Given the description of an element on the screen output the (x, y) to click on. 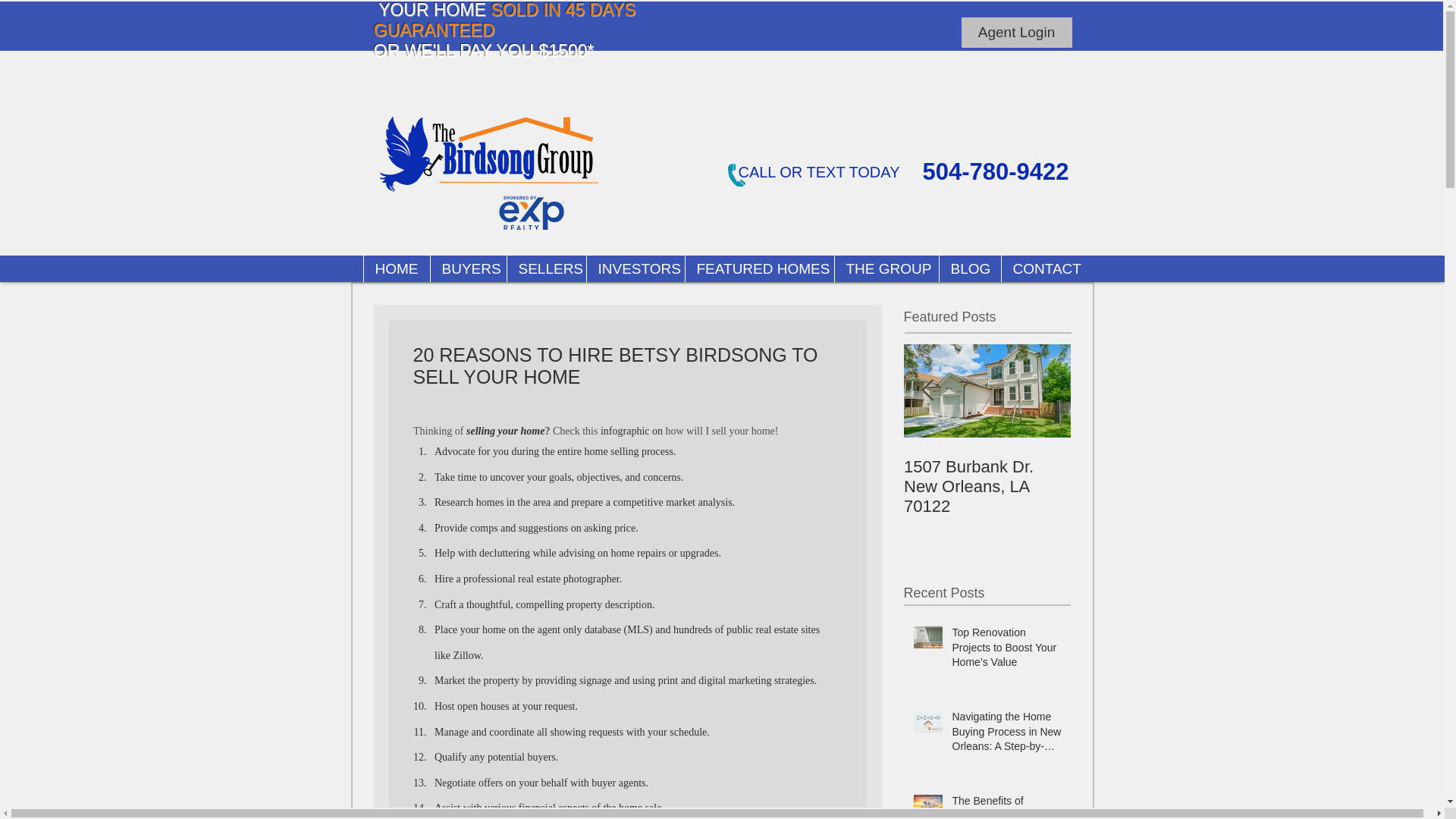
BLOG (970, 268)
INVESTORS (634, 268)
CONTACT (1045, 268)
BUYERS (467, 268)
HOME (395, 268)
SELLERS (546, 268)
Wix Chat (1408, 771)
Agent Login (1015, 32)
